Given the description of an element on the screen output the (x, y) to click on. 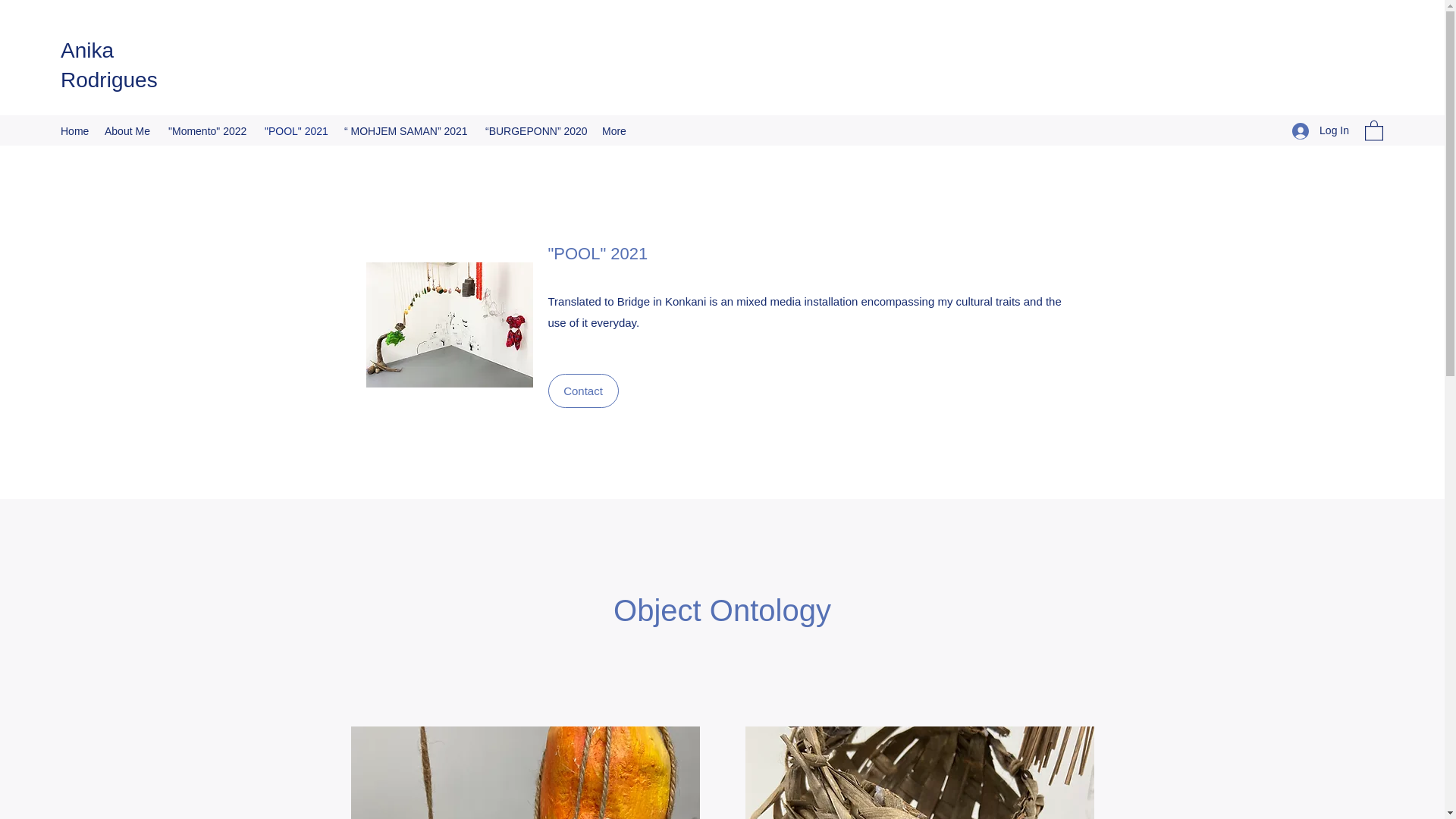
Contact (582, 390)
"POOL" 2021 (296, 130)
Log In (1320, 130)
Home (74, 130)
"Momento" 2022 (208, 130)
Anika Rodrigues (109, 64)
About Me (128, 130)
